Given the description of an element on the screen output the (x, y) to click on. 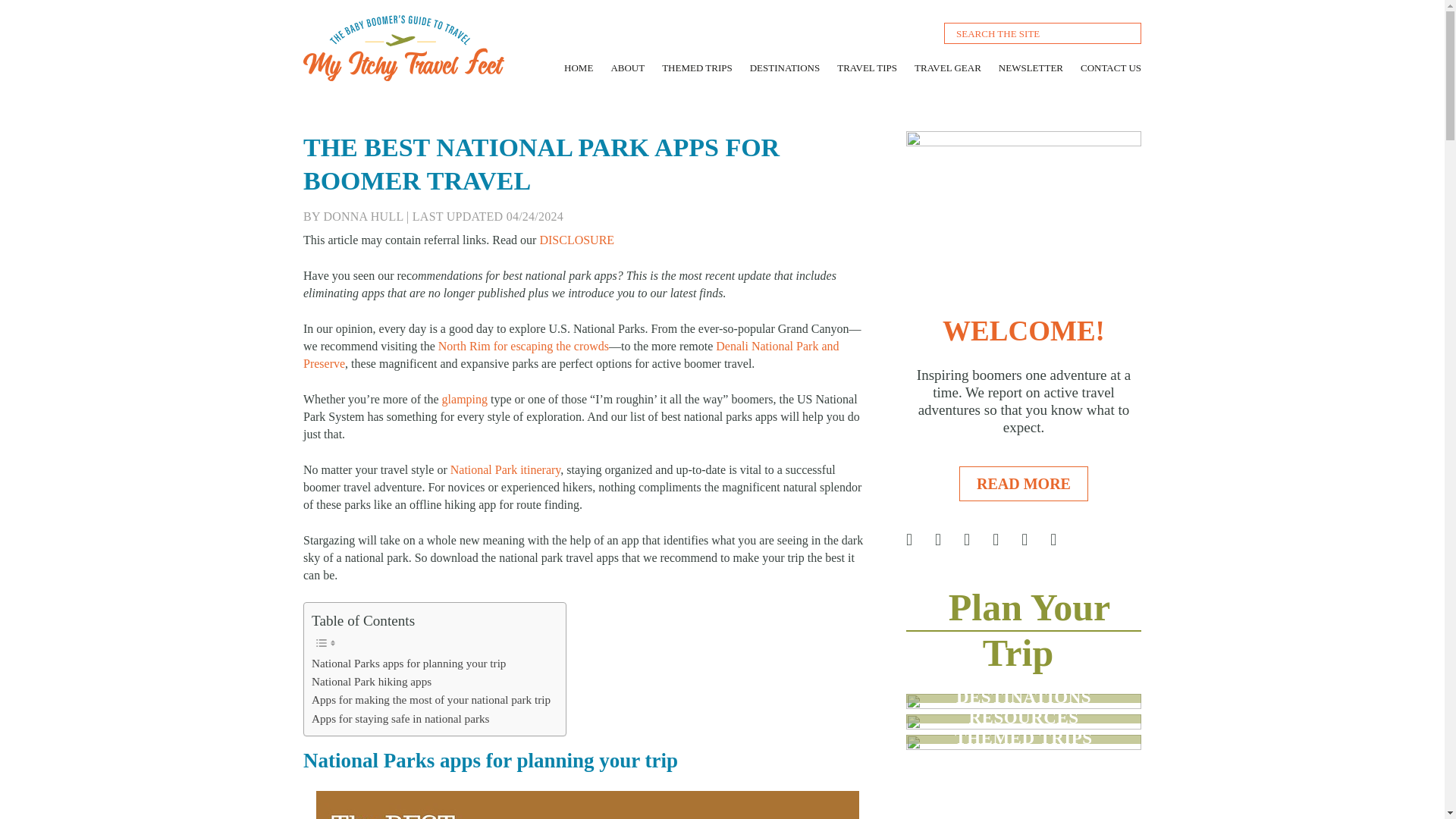
Apps for making the most of your national park trip (430, 700)
Apps for staying safe in national parks (400, 719)
ABOUT (627, 65)
HOME (578, 65)
My Itchy Travel Feet (354, 93)
National Park hiking apps (370, 681)
THEMED TRIPS (697, 65)
best national park apps (587, 805)
National Parks apps for planning your trip (408, 663)
